Given the description of an element on the screen output the (x, y) to click on. 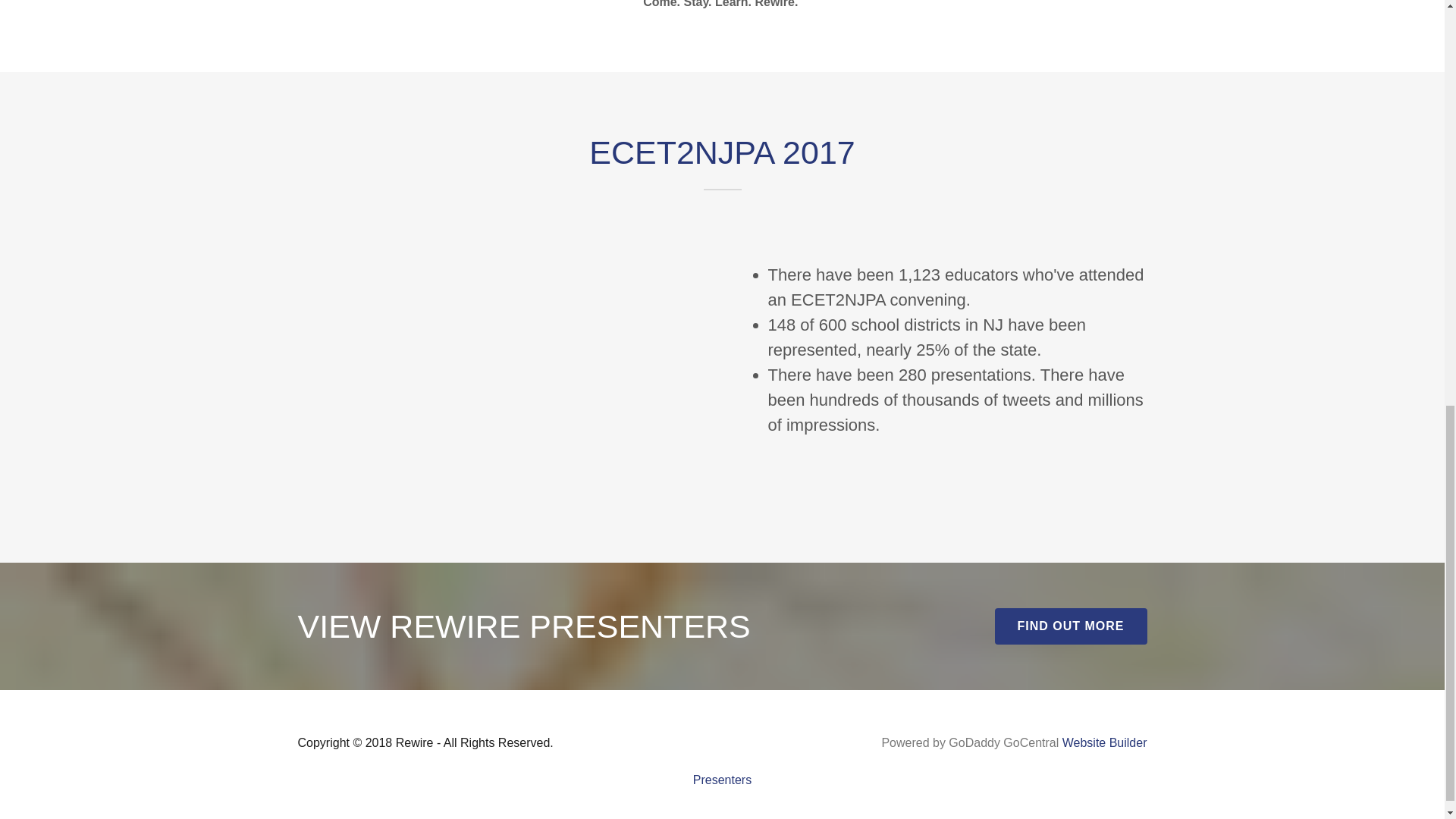
Website Builder (1104, 742)
FIND OUT MORE (1070, 626)
Presenters (721, 779)
